Given the description of an element on the screen output the (x, y) to click on. 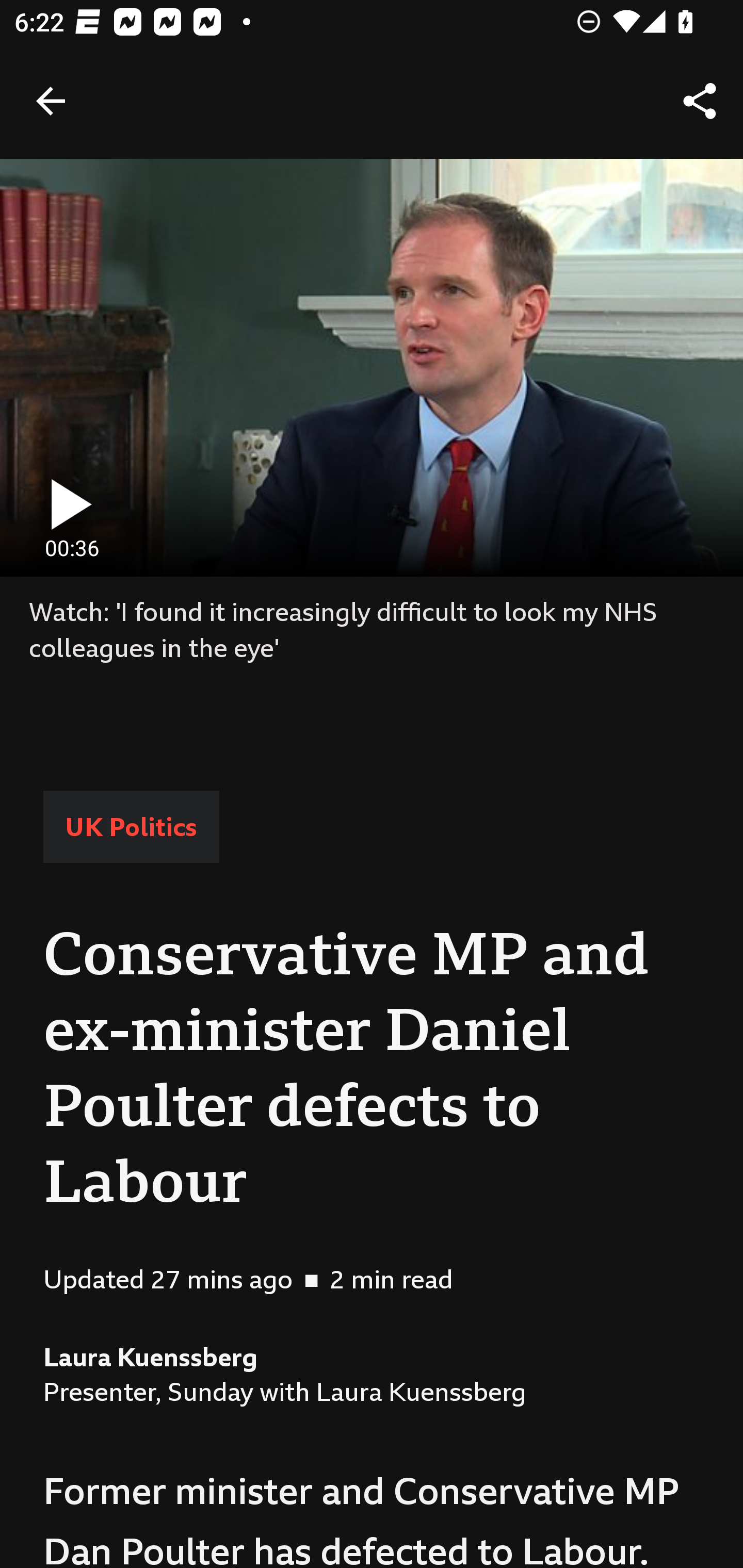
Back (50, 101)
Share (699, 101)
play fullscreen 00:36 0 minutes, 36 seconds (371, 367)
UK Politics (131, 827)
